Given the description of an element on the screen output the (x, y) to click on. 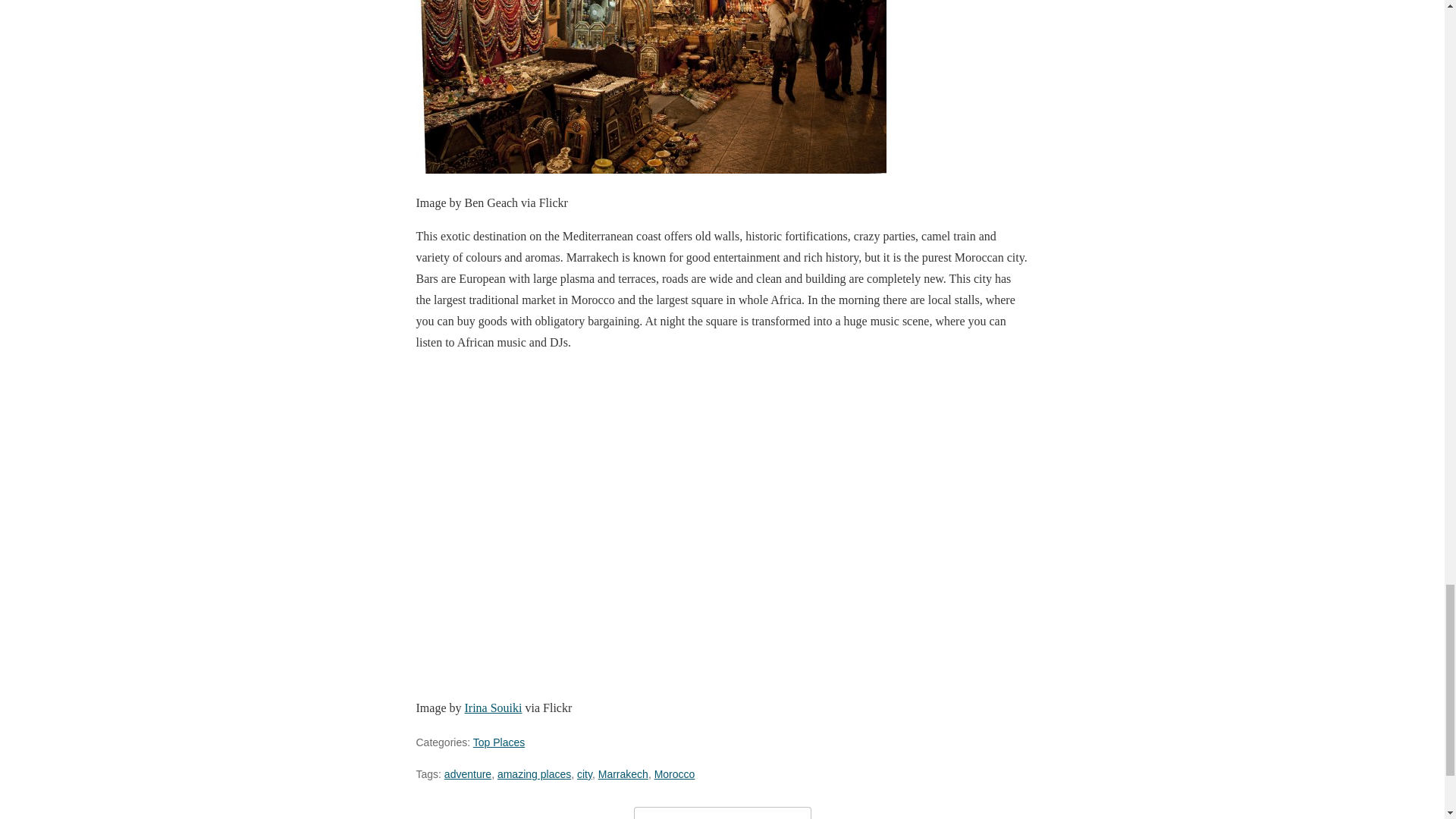
Irina Souiki (492, 707)
amazing places (533, 774)
Marrakech - Red City of God (649, 86)
Go to Irina Souiki's photostream (492, 707)
adventure (468, 774)
Morocco (674, 774)
Marrakech (622, 774)
Leave a Comment (721, 812)
city (584, 774)
Top Places (498, 742)
